Given the description of an element on the screen output the (x, y) to click on. 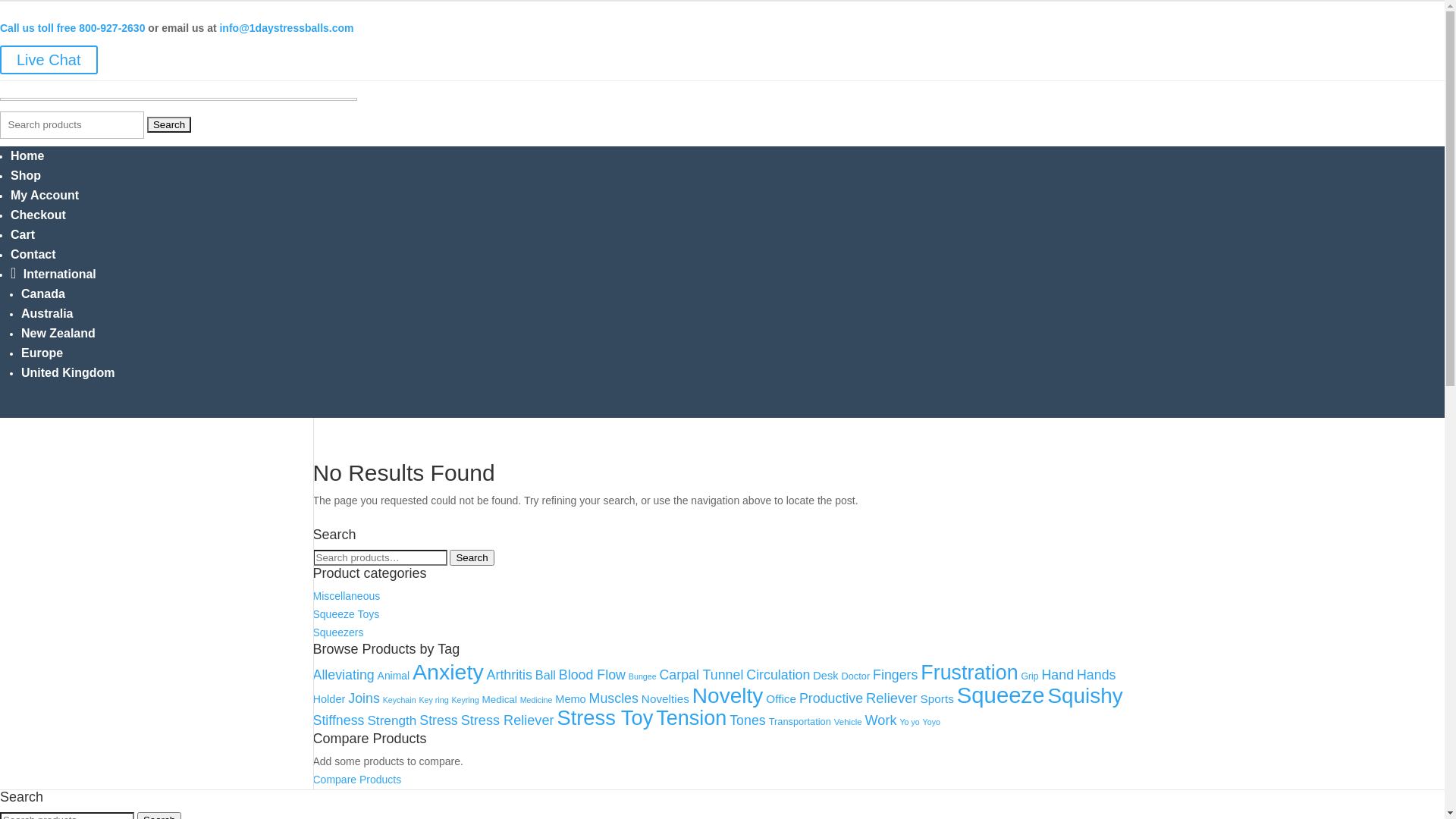
Call us toll free 800-927-2630 Element type: text (72, 27)
Keyring Element type: text (464, 699)
Fingers Element type: text (894, 674)
Stiffness Element type: text (338, 720)
Checkout Element type: text (37, 214)
Search Element type: text (471, 557)
Cart Element type: text (22, 234)
Shop Element type: text (25, 175)
Carpal Tunnel Element type: text (700, 674)
Search Element type: text (169, 124)
Europe Element type: text (41, 352)
Office Element type: text (780, 698)
Home Element type: text (26, 155)
Contact Element type: text (33, 253)
Doctor Element type: text (854, 675)
Arthritis Element type: text (509, 674)
Alleviating Element type: text (342, 674)
Vehicle Element type: text (848, 721)
Blood Flow Element type: text (591, 674)
Transportation Element type: text (799, 721)
Grip Element type: text (1029, 676)
Holder Element type: text (328, 699)
Animal Element type: text (393, 675)
Muscles Element type: text (613, 698)
Live Chat Element type: text (48, 59)
Desk Element type: text (824, 675)
Stress Element type: text (438, 720)
Reliever Element type: text (891, 698)
Stress Reliever Element type: text (507, 720)
Hands Element type: text (1096, 674)
Productive Element type: text (830, 698)
Memo Element type: text (570, 699)
Canada Element type: text (43, 293)
Australia Element type: text (46, 313)
Stress Toy Element type: text (604, 717)
Anxiety Element type: text (447, 671)
Yoyo Element type: text (931, 721)
Squeezers Element type: text (337, 632)
Tension Element type: text (690, 717)
Sports Element type: text (936, 698)
Key ring Element type: text (433, 699)
Ball Element type: text (545, 674)
Novelties Element type: text (665, 698)
Miscellaneous Element type: text (345, 595)
Frustration Element type: text (968, 672)
Tones Element type: text (747, 720)
Medical Element type: text (498, 699)
New Zealand Element type: text (58, 332)
Keychain Element type: text (399, 699)
Novelty Element type: text (727, 695)
Bungee Element type: text (642, 675)
Hand Element type: text (1057, 674)
Squishy Element type: text (1084, 695)
Strength Element type: text (391, 720)
Joins Element type: text (363, 698)
Squeeze Toys Element type: text (345, 614)
Circulation Element type: text (777, 674)
My Account Element type: text (44, 194)
info@1daystressballs.com Element type: text (286, 27)
1day-stress-balls Element type: hover (178, 97)
Work Element type: text (881, 720)
Medicine Element type: text (536, 699)
Yo yo Element type: text (909, 721)
United Kingdom Element type: text (68, 372)
Squeeze Element type: text (1000, 694)
Compare Products Element type: text (356, 779)
